Given the description of an element on the screen output the (x, y) to click on. 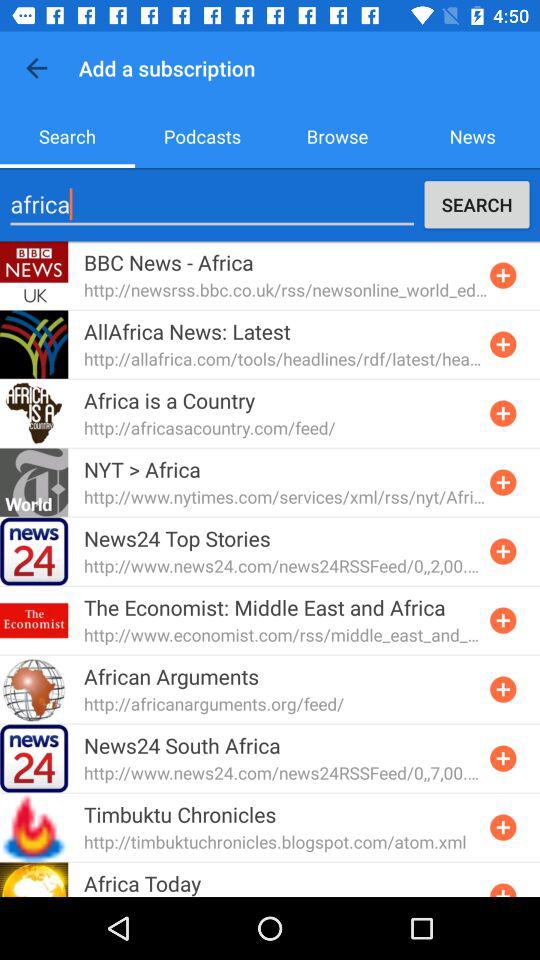
add to search option (503, 827)
